Given the description of an element on the screen output the (x, y) to click on. 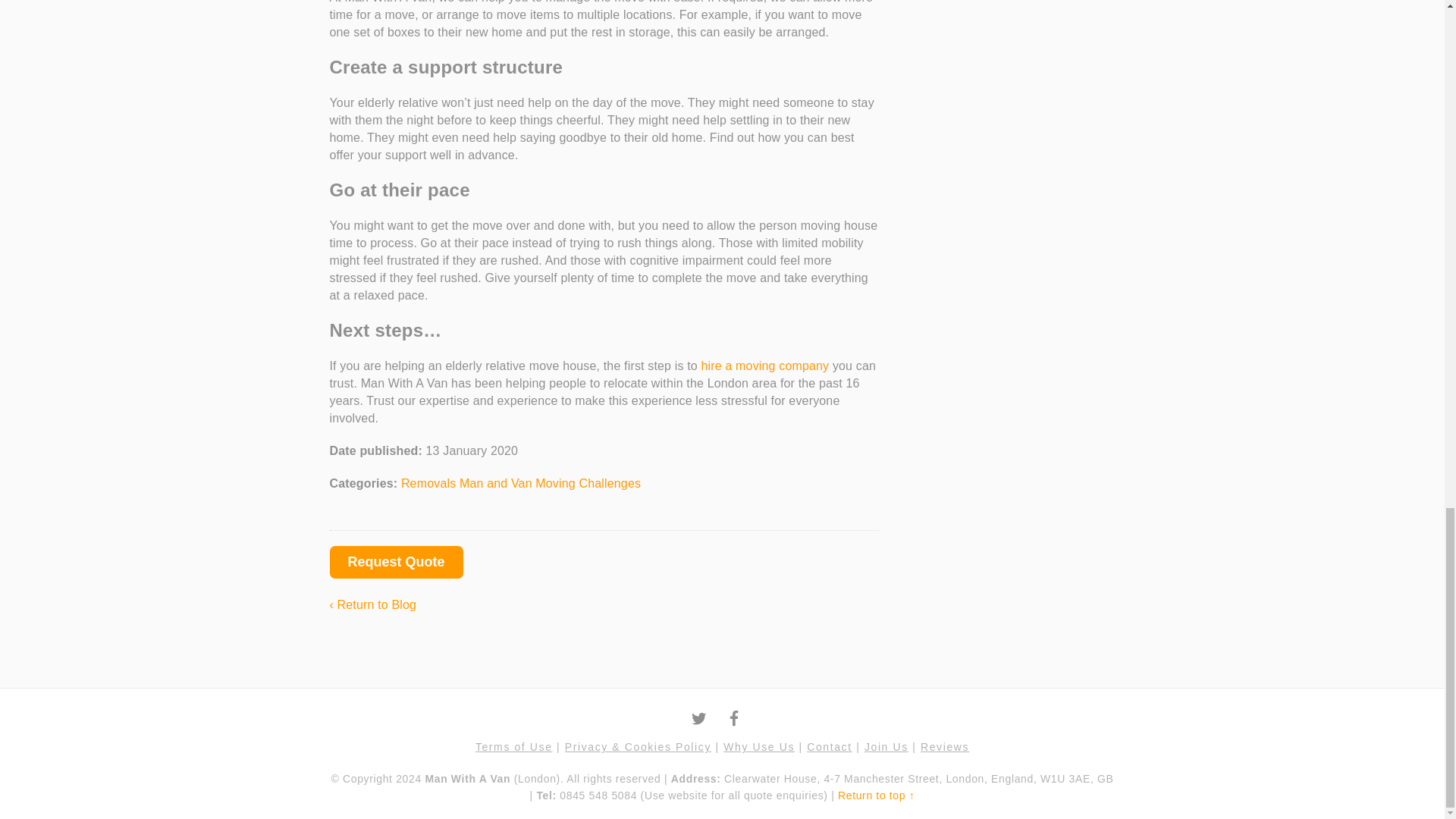
Terms of Use (514, 746)
Request Quote (396, 562)
Man and Van (497, 482)
Moving Challenges (587, 482)
Removals (430, 482)
Reviews (944, 746)
Contact (828, 746)
hire a moving company (764, 365)
Why Use Us (758, 746)
Join Us (886, 746)
